Given the description of an element on the screen output the (x, y) to click on. 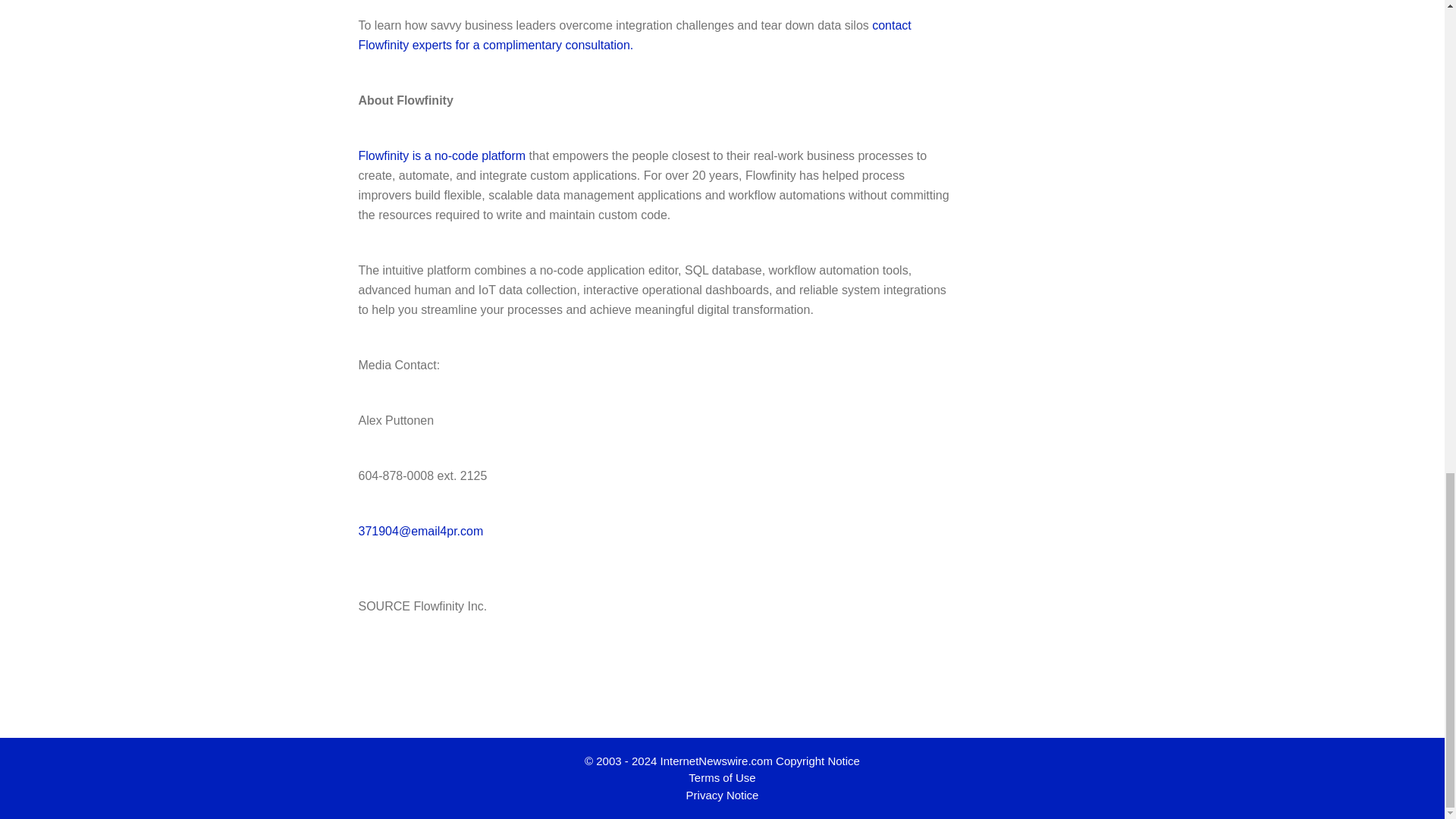
contact Flowfinity experts for a complimentary consultation. (634, 34)
Flowfinity is a no-code platform (441, 154)
Privacy Notice (721, 794)
Terms of Use (721, 777)
